Given the description of an element on the screen output the (x, y) to click on. 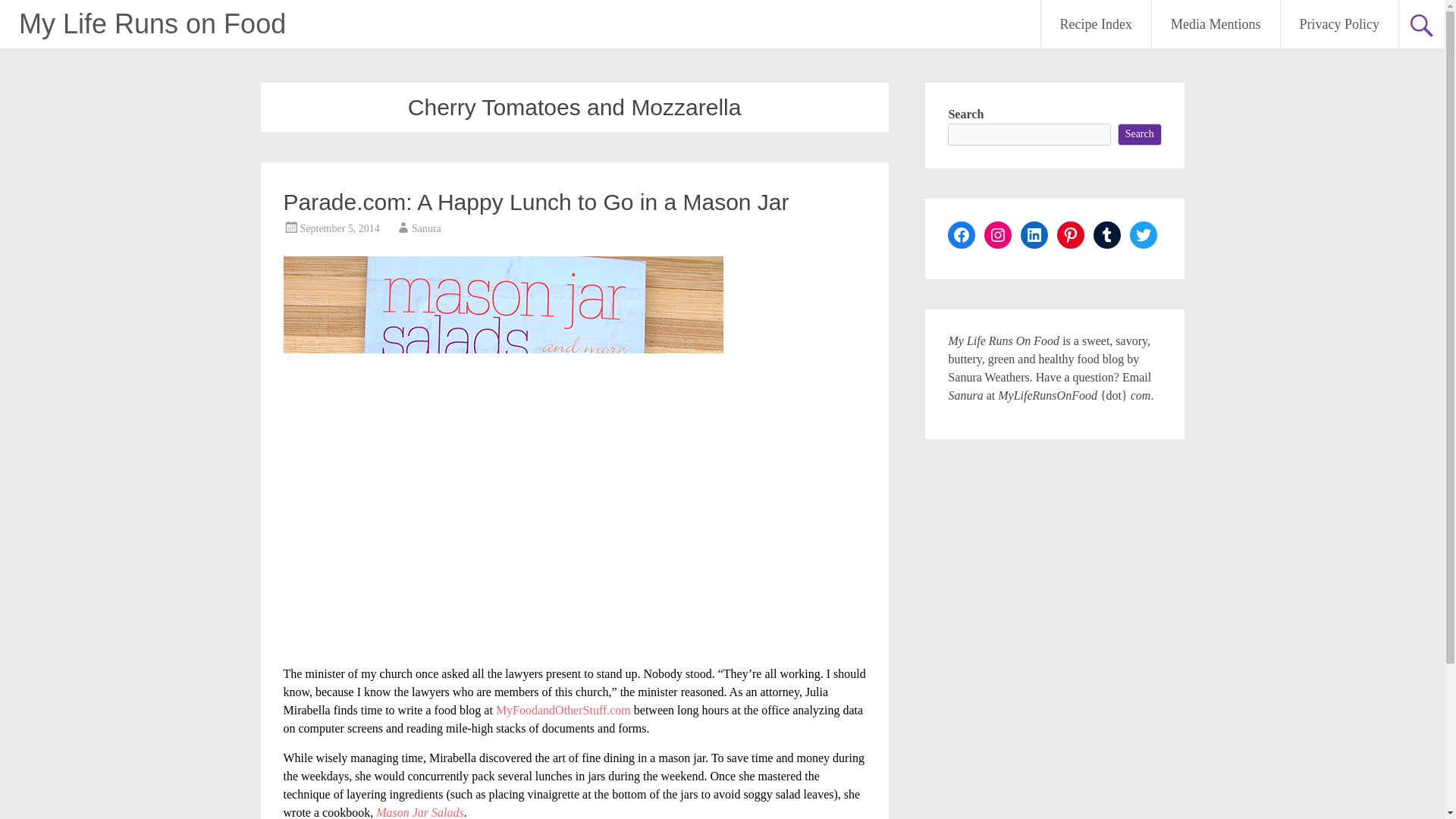
MyFoodandOtherStuff.com (563, 709)
LinkedIn (1034, 234)
Instagram (997, 234)
Tumblr (1107, 234)
Sanura (426, 228)
Privacy Policy (1338, 24)
Search (1139, 134)
Mason Jar Salads (419, 812)
My Life Runs on Food (151, 23)
Media Mentions (1215, 24)
